Given the description of an element on the screen output the (x, y) to click on. 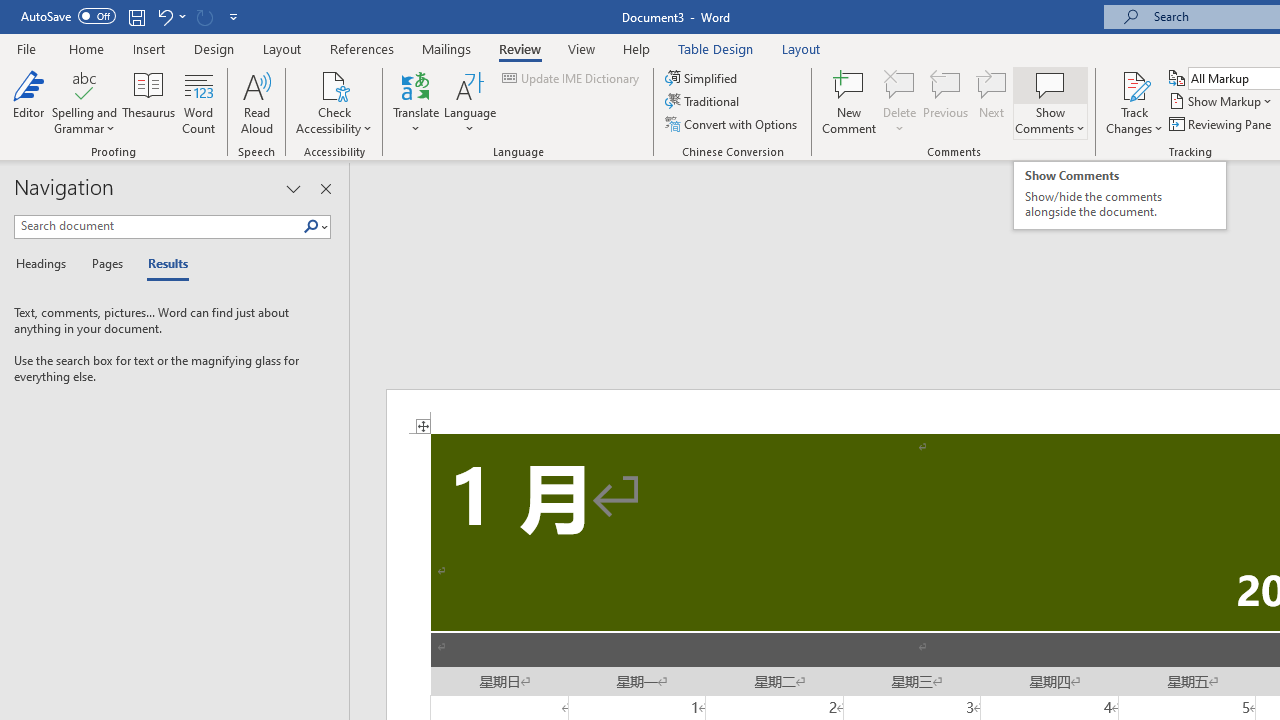
Previous (946, 102)
Next (991, 102)
Read Aloud (256, 102)
Track Changes (1134, 102)
Track Changes (1134, 84)
Simplified (702, 78)
Can't Repeat (204, 15)
Reviewing Pane (1221, 124)
